Given the description of an element on the screen output the (x, y) to click on. 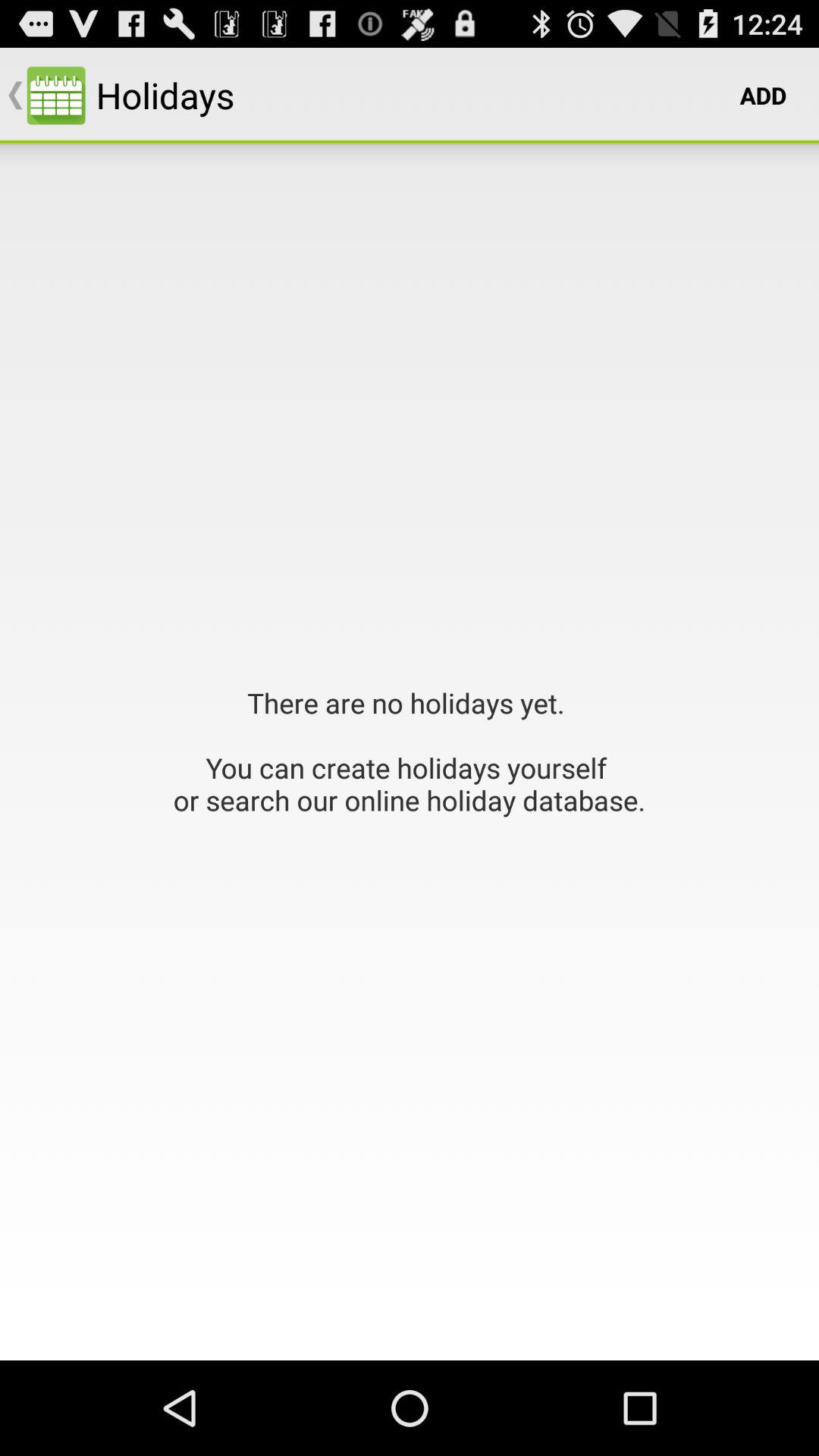
jump to add icon (763, 95)
